Given the description of an element on the screen output the (x, y) to click on. 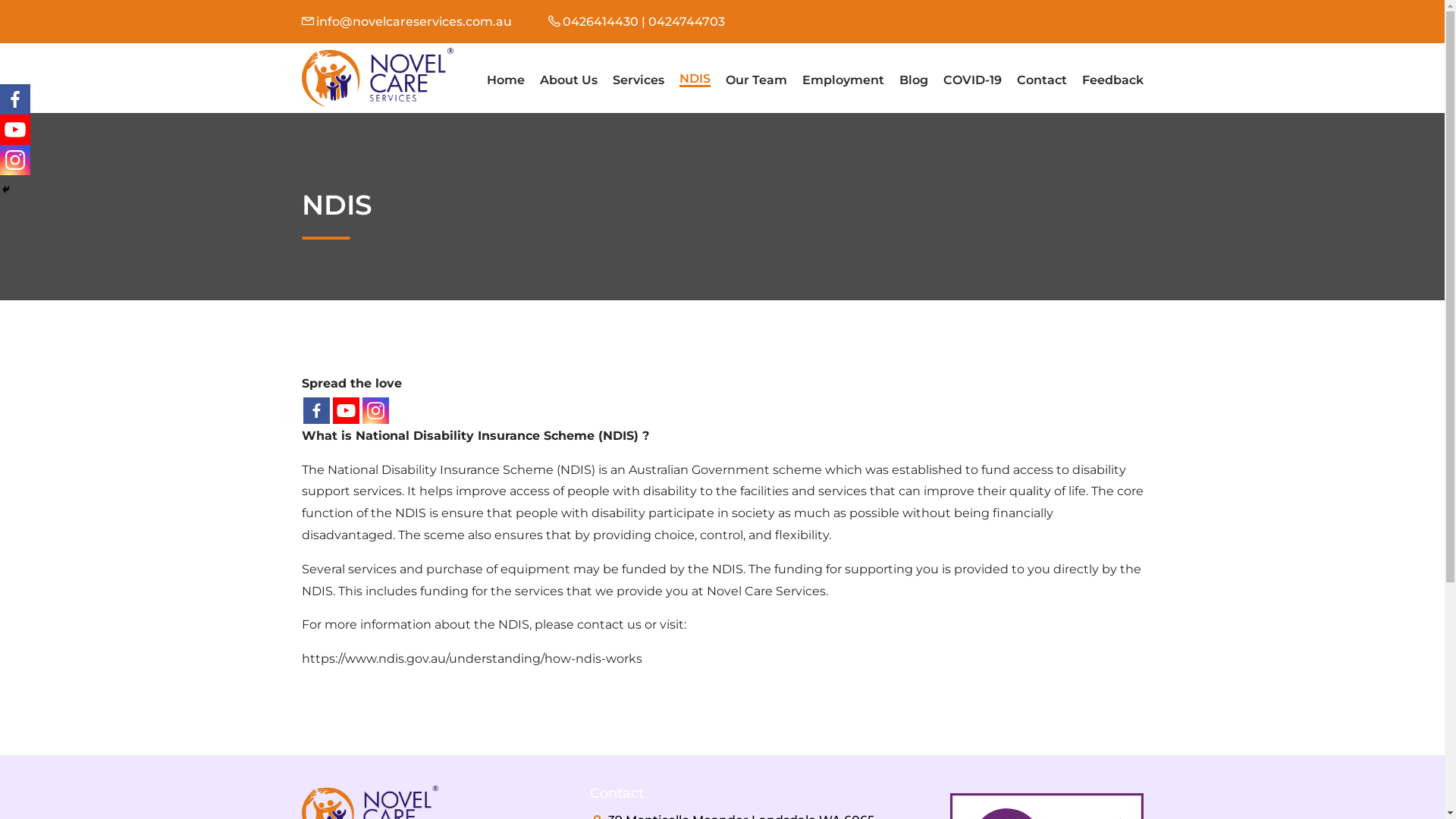
About Us Element type: text (568, 80)
Instagram Element type: hover (15, 159)
Home Element type: text (505, 80)
Youtube Element type: hover (345, 410)
COVID-19 Element type: text (972, 80)
Facebook Element type: hover (15, 99)
Employment Element type: text (843, 80)
Youtube Element type: hover (15, 129)
Our Team Element type: text (755, 80)
Contact Element type: text (1041, 80)
Blog Element type: text (913, 80)
NDIS Element type: text (694, 79)
info@novelcareservices.com.au Element type: text (413, 21)
Services Element type: text (638, 80)
Instagram Element type: hover (375, 410)
Hide Element type: hover (6, 189)
Feedback Element type: text (1111, 80)
https://www.ndis.gov.au/understanding/how-ndis-works Element type: text (471, 658)
Facebook Element type: hover (316, 410)
